Given the description of an element on the screen output the (x, y) to click on. 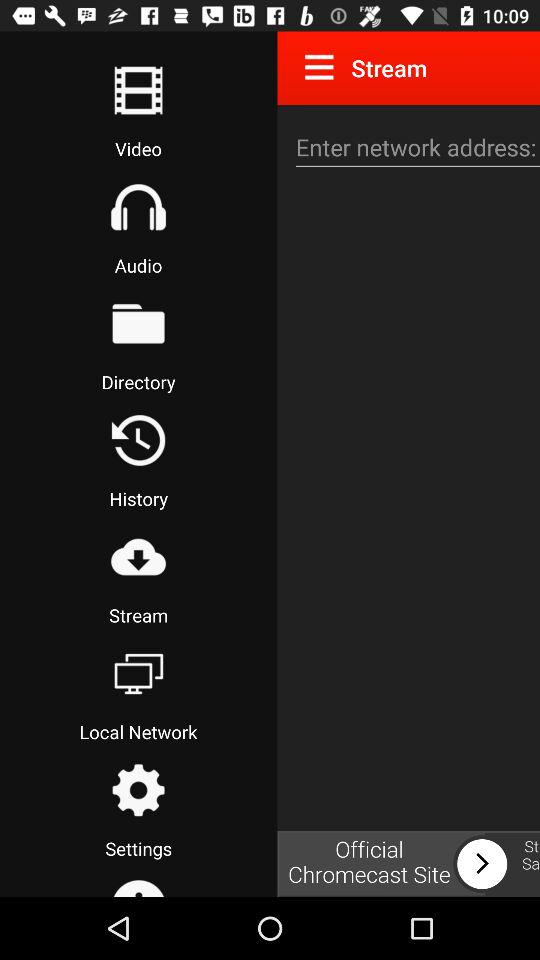
stream button (138, 557)
